Given the description of an element on the screen output the (x, y) to click on. 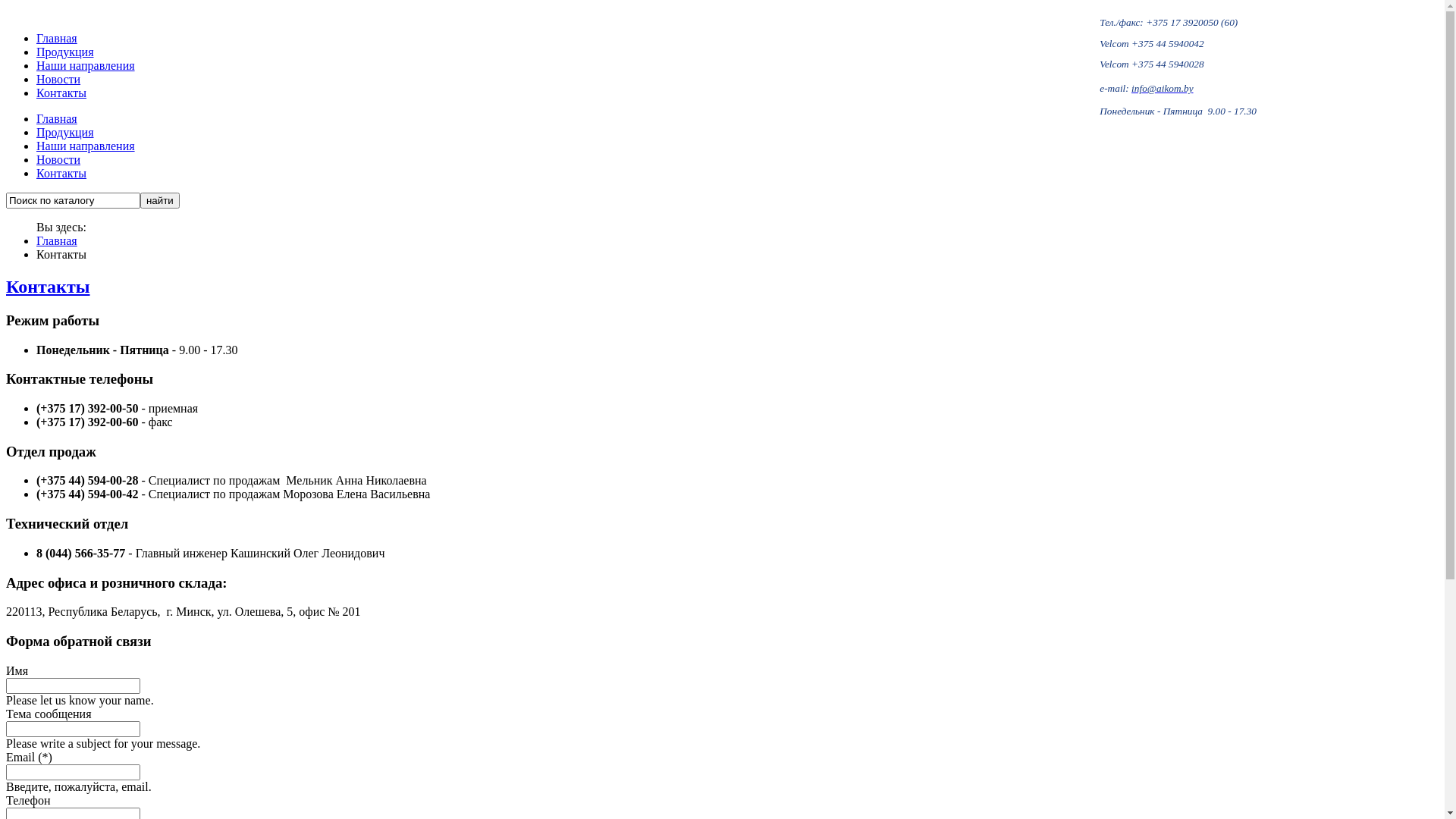
info@aikom.by Element type: text (1161, 88)
